Given the description of an element on the screen output the (x, y) to click on. 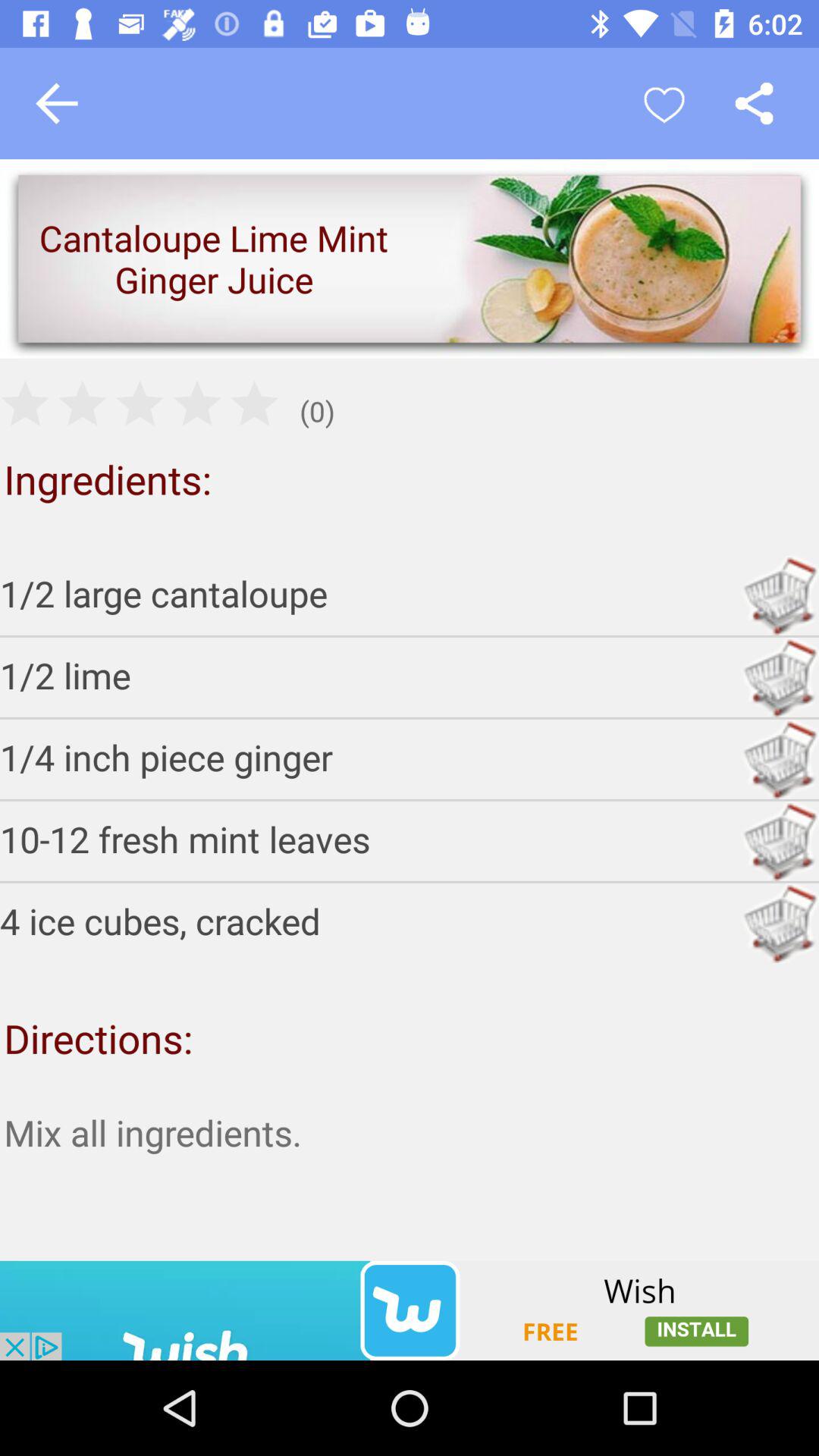
open advertisement (409, 1310)
